Given the description of an element on the screen output the (x, y) to click on. 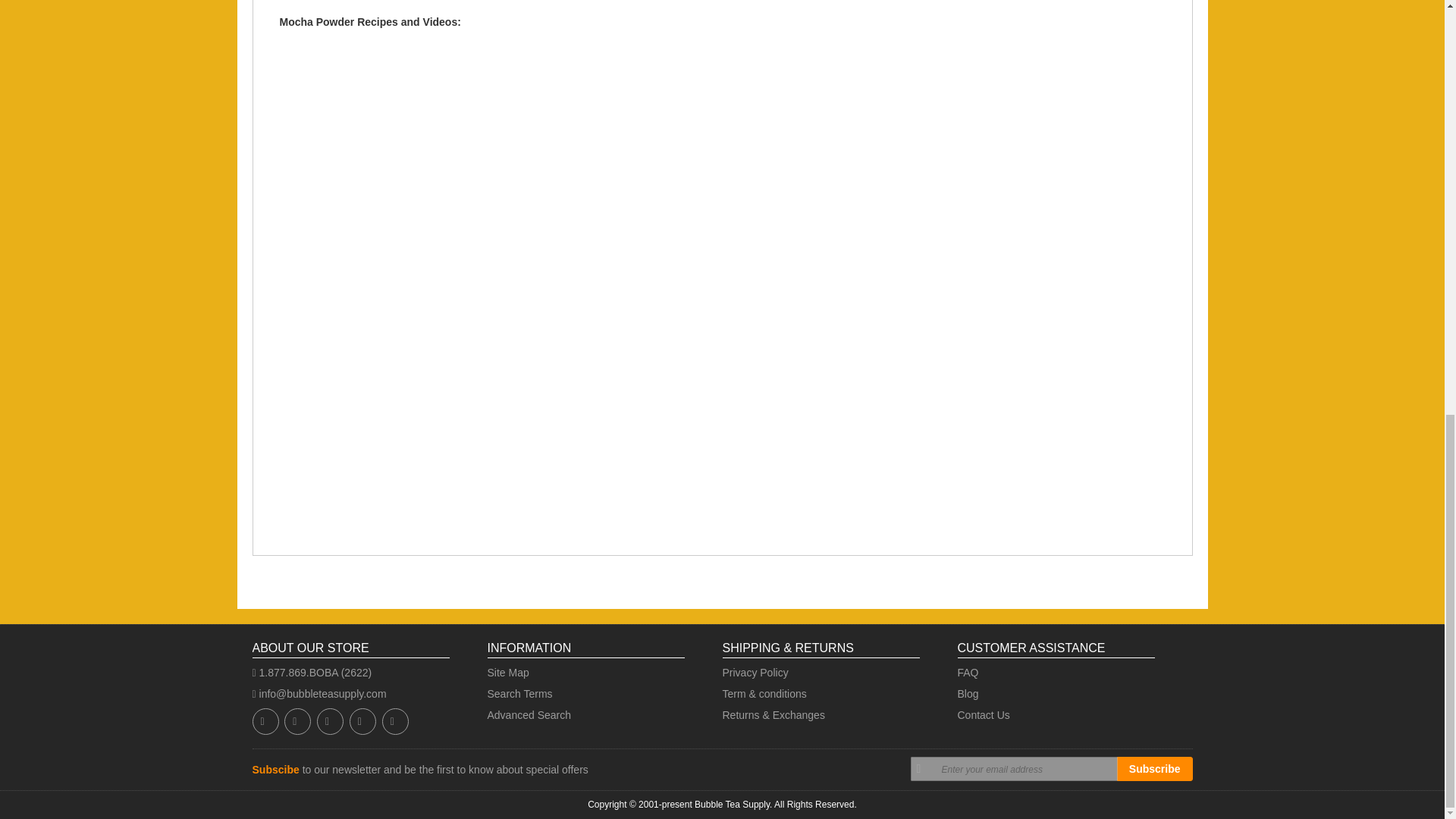
Subscribe (1154, 768)
